Given the description of an element on the screen output the (x, y) to click on. 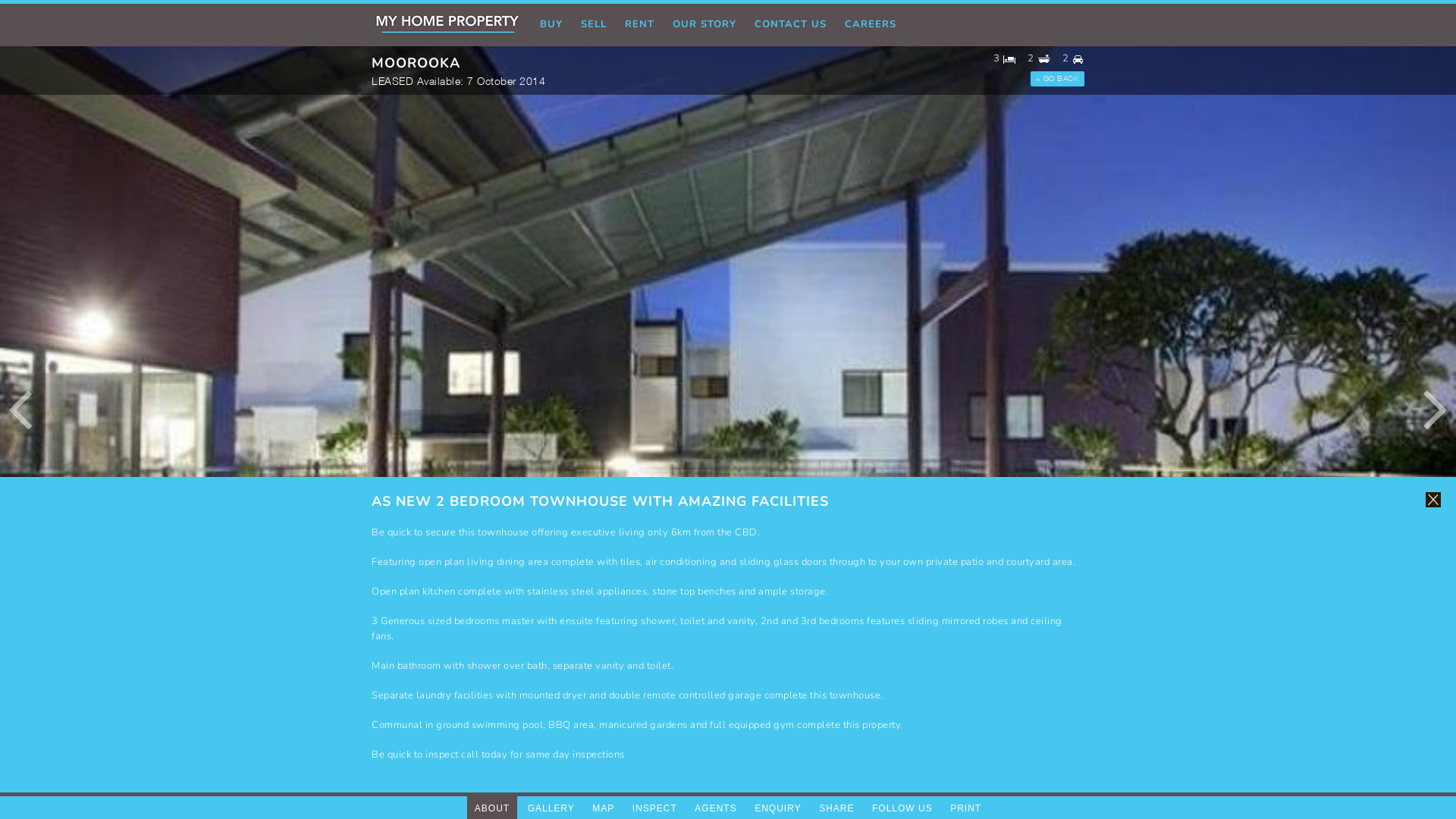
CONTACT US Element type: text (790, 24)
SELL Element type: text (593, 24)
CAREERS Element type: text (870, 24)
RENT Element type: text (639, 24)
HOME Element type: text (450, 24)
BUY Element type: text (550, 24)
OUR STORY Element type: text (704, 24)
